Given the description of an element on the screen output the (x, y) to click on. 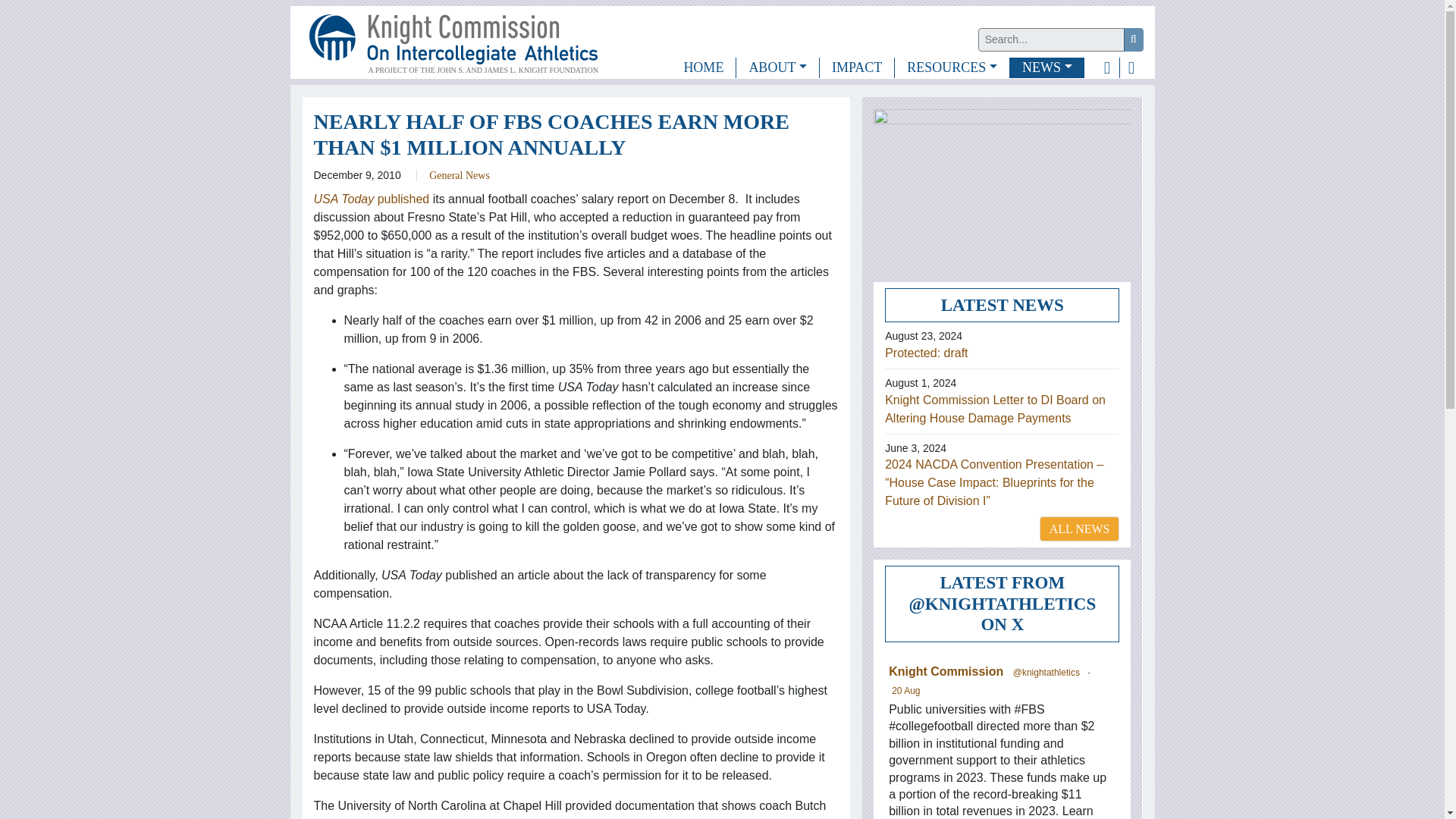
RESOURCES (952, 67)
IMPACT (856, 67)
ABOUT (777, 67)
News (1047, 67)
USA Today published (371, 198)
LINKEDIN (1130, 67)
Resources (952, 67)
General News (459, 174)
About (777, 67)
Home (703, 67)
